Given the description of an element on the screen output the (x, y) to click on. 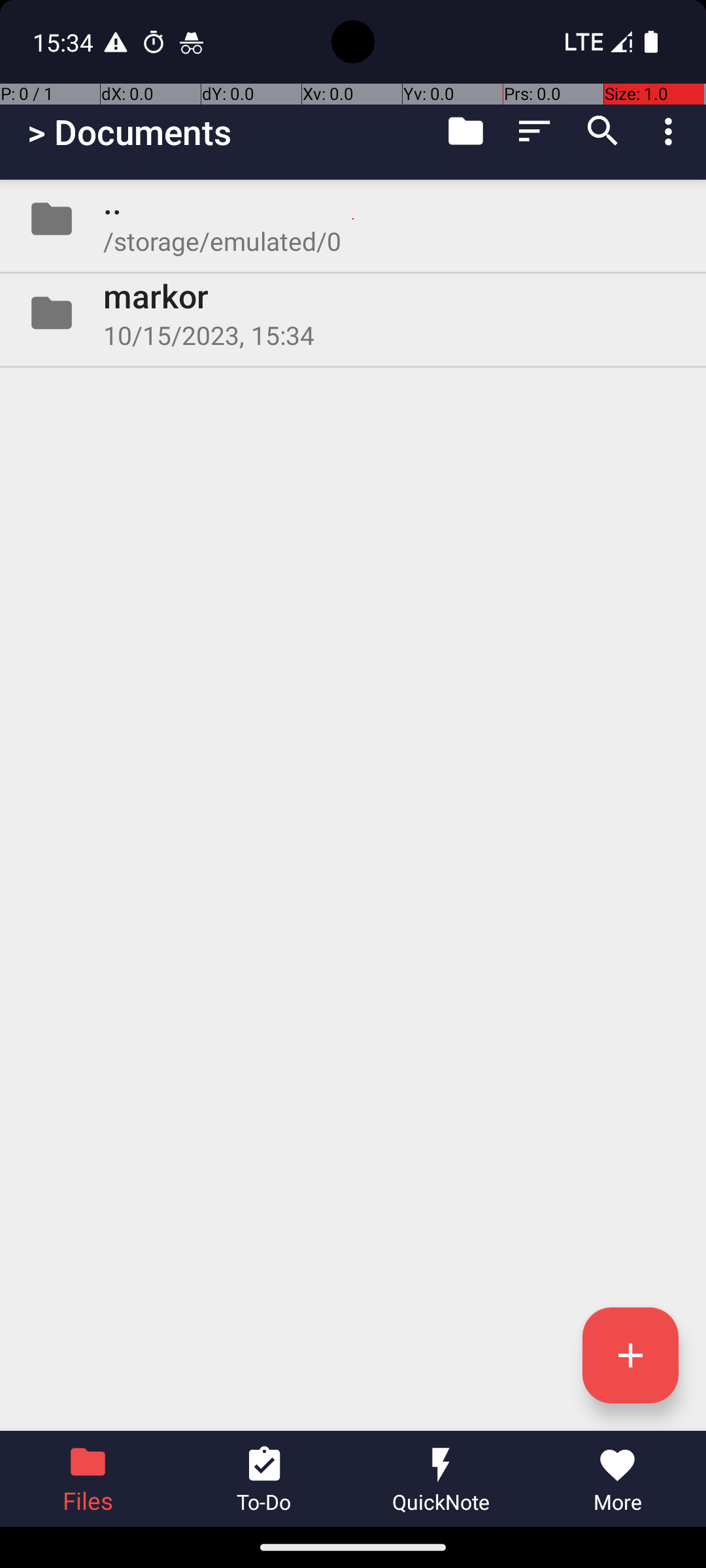
> Documents Element type: android.widget.TextView (129, 131)
Folder markor  Element type: android.widget.LinearLayout (353, 312)
